Given the description of an element on the screen output the (x, y) to click on. 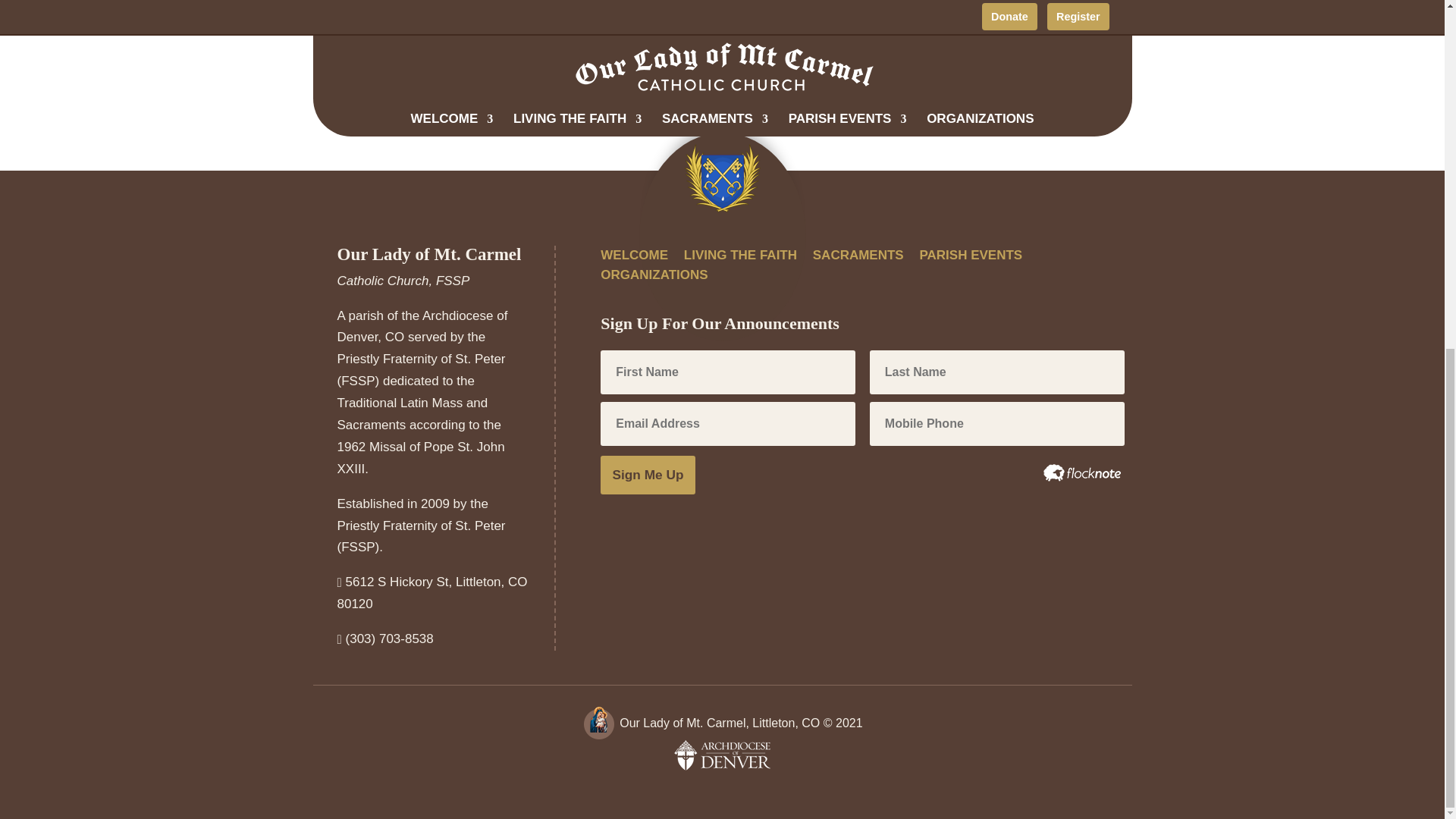
2024-02-04 (407, 38)
